Given the description of an element on the screen output the (x, y) to click on. 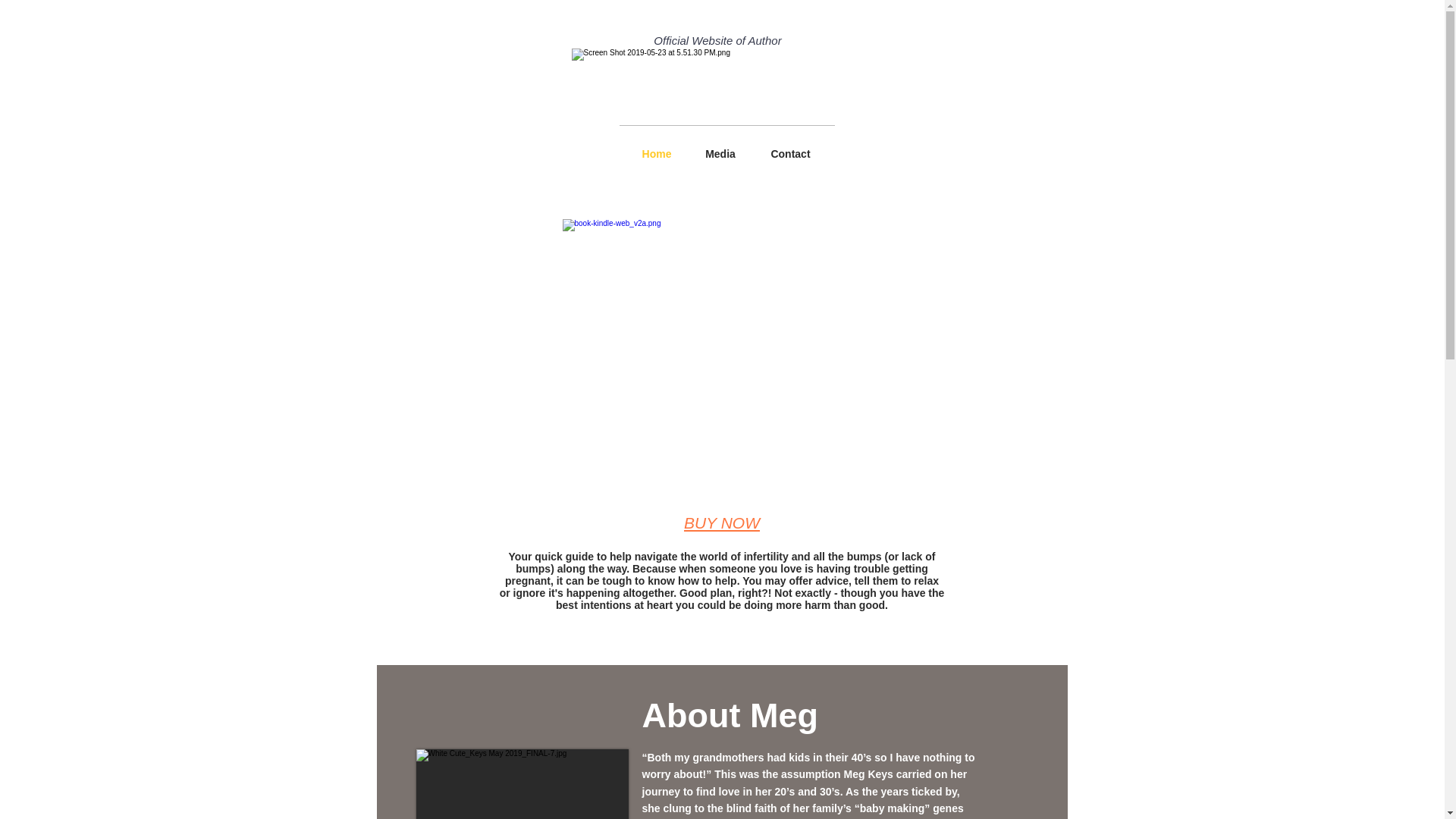
Home (655, 153)
Contact (790, 153)
BUY NOW (722, 522)
Official Website of Author (716, 40)
Media (720, 153)
